Given the description of an element on the screen output the (x, y) to click on. 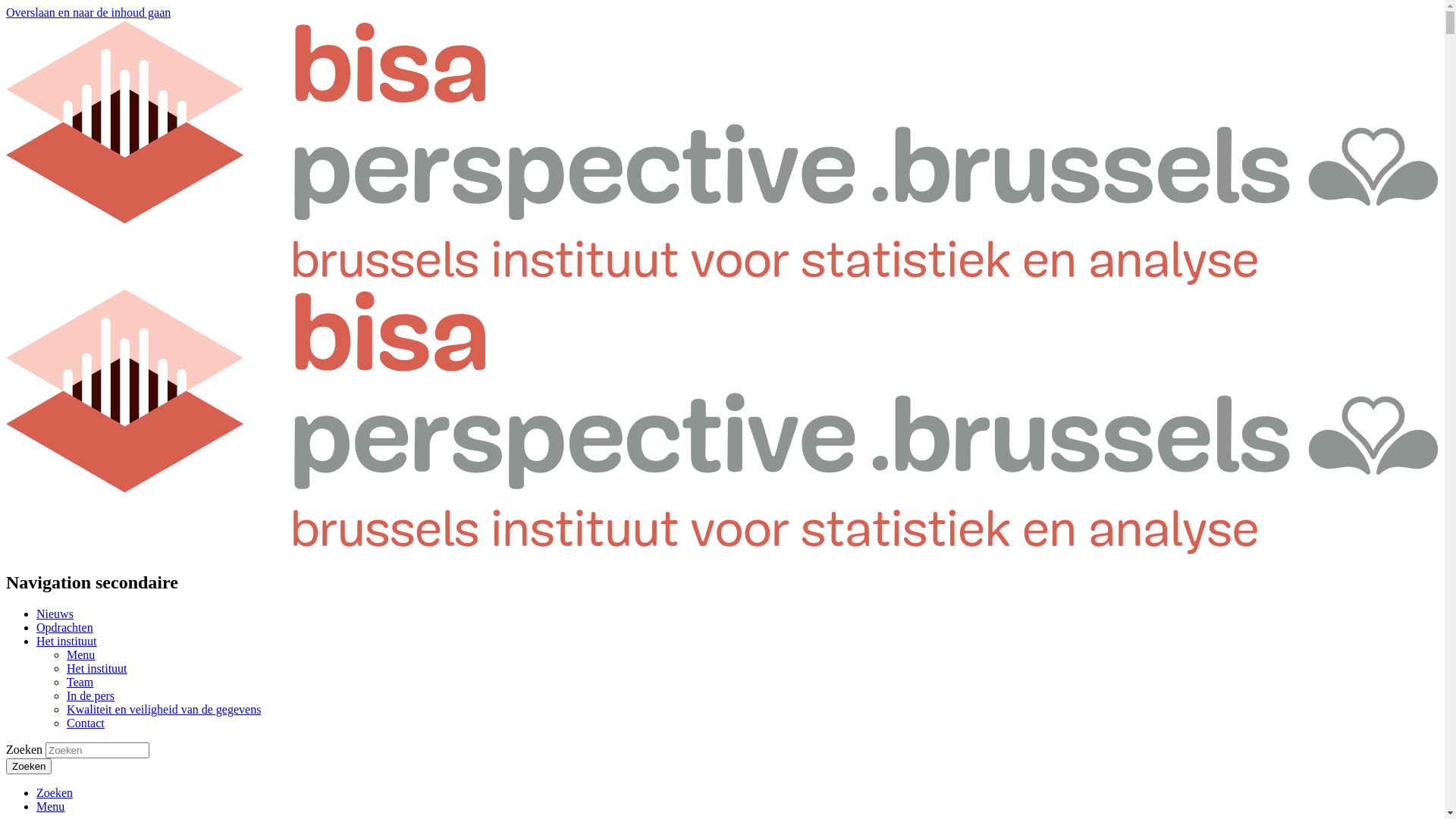
Geef de woorden op waarnaar u wilt zoeken. Element type: hover (97, 750)
Contact Element type: text (85, 722)
Zoeken Element type: text (54, 792)
Opdrachten Element type: text (64, 627)
Menu Element type: text (80, 654)
Overslaan en naar de inhoud gaan Element type: text (88, 12)
In de pers Element type: text (90, 695)
Team Element type: text (79, 681)
Het instituut Element type: text (66, 640)
Nieuws Element type: text (54, 613)
Kwaliteit en veiligheid van de gegevens Element type: text (163, 708)
Het instituut Element type: text (96, 668)
Menu Element type: text (50, 806)
Zoeken Element type: text (28, 766)
Home Element type: hover (722, 549)
